Given the description of an element on the screen output the (x, y) to click on. 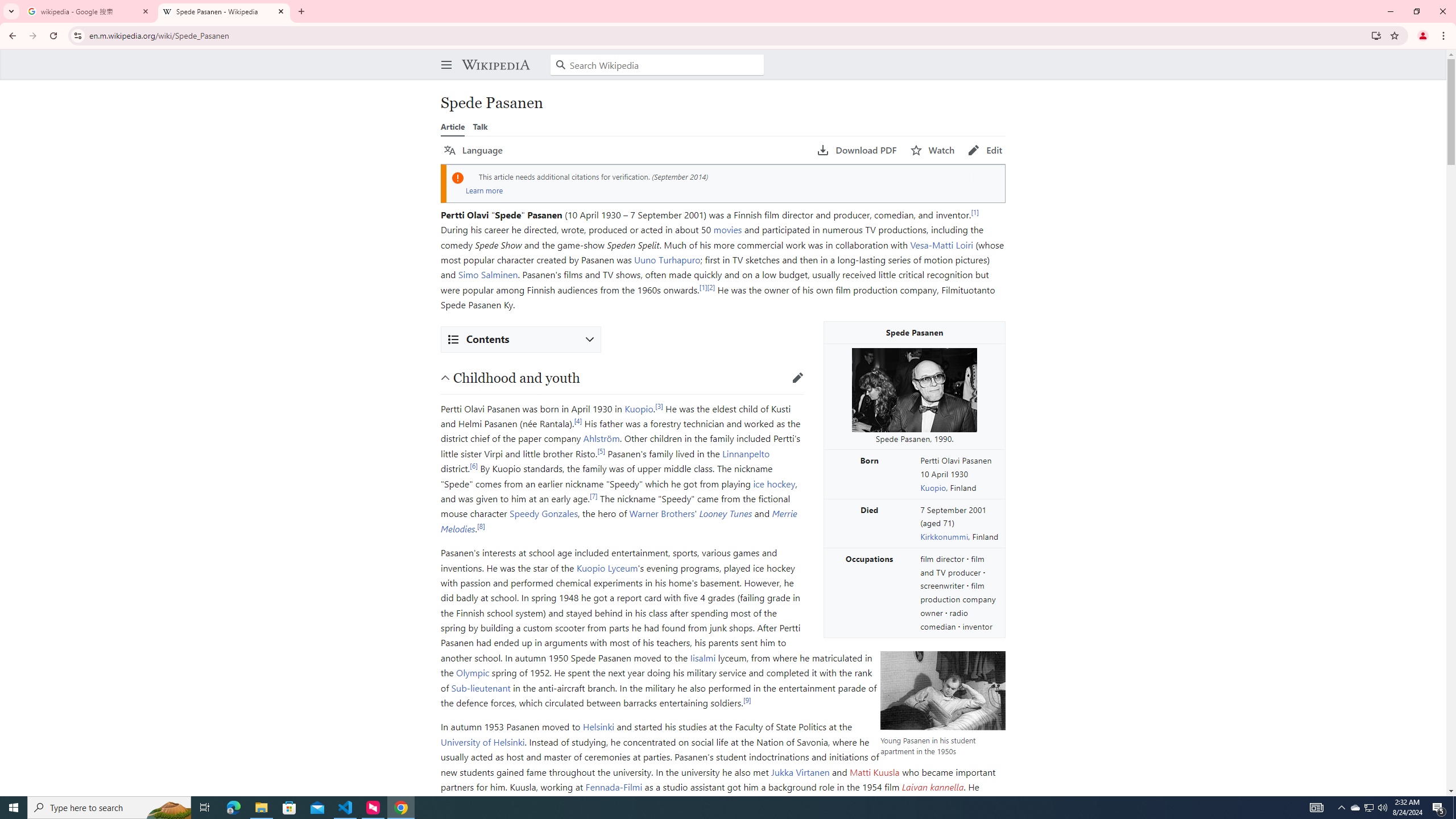
Fennada-Filmi (613, 786)
Helsinki (598, 726)
[6] (473, 465)
Language (472, 149)
Sub-lieutenant (481, 687)
Wikipedia (495, 64)
[1] (702, 286)
Watch (932, 149)
AutomationID: page-actions-edit (984, 150)
AutomationID: language-selector (623, 150)
[5] (600, 450)
Jukka Virtanen (799, 771)
[4] (577, 420)
